Given the description of an element on the screen output the (x, y) to click on. 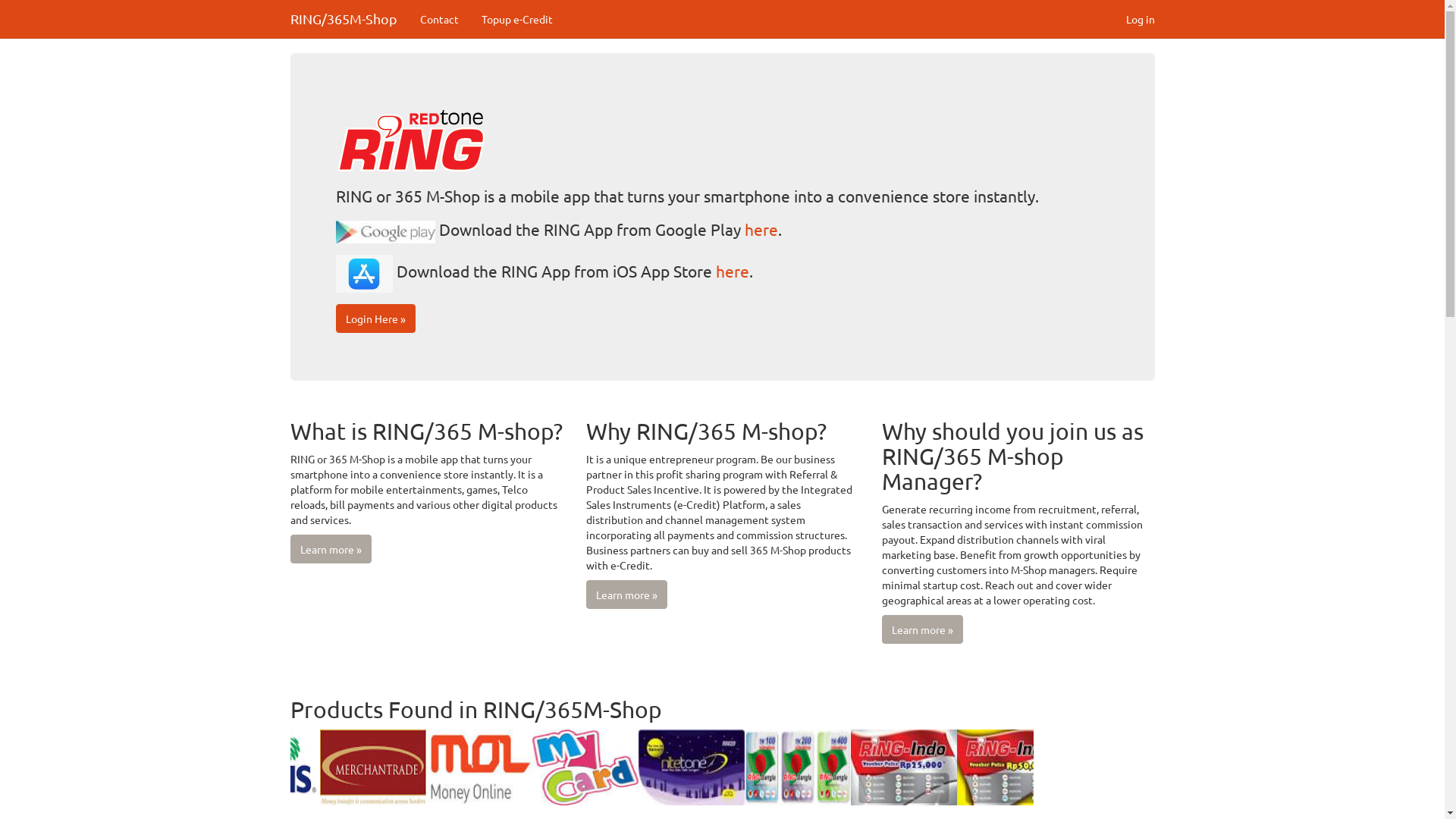
Topup e-Credit Element type: text (517, 18)
Log in Element type: text (1140, 18)
Contact Element type: text (438, 18)
here Element type: text (761, 228)
RING/365M-Shop Element type: text (343, 18)
here Element type: text (732, 270)
